Given the description of an element on the screen output the (x, y) to click on. 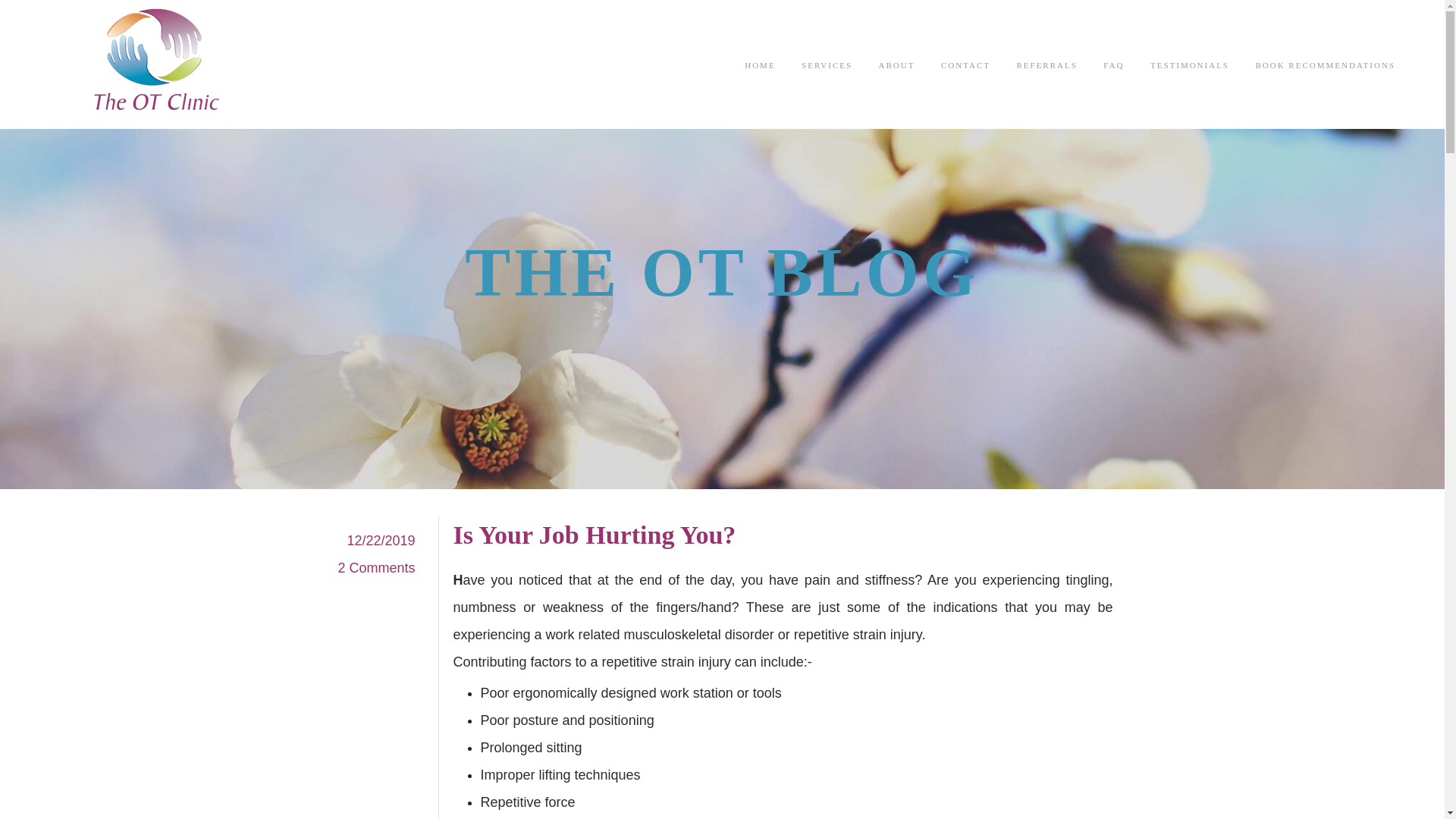
BOOK RECOMMENDATIONS (1324, 64)
ABOUT (897, 64)
CONTACT (965, 64)
Is Your Job Hurting You? (594, 534)
HOME (759, 64)
FAQ (1113, 64)
REFERRALS (1046, 64)
TESTIMONIALS (1189, 64)
2 Comments (375, 567)
SERVICES (826, 64)
